Given the description of an element on the screen output the (x, y) to click on. 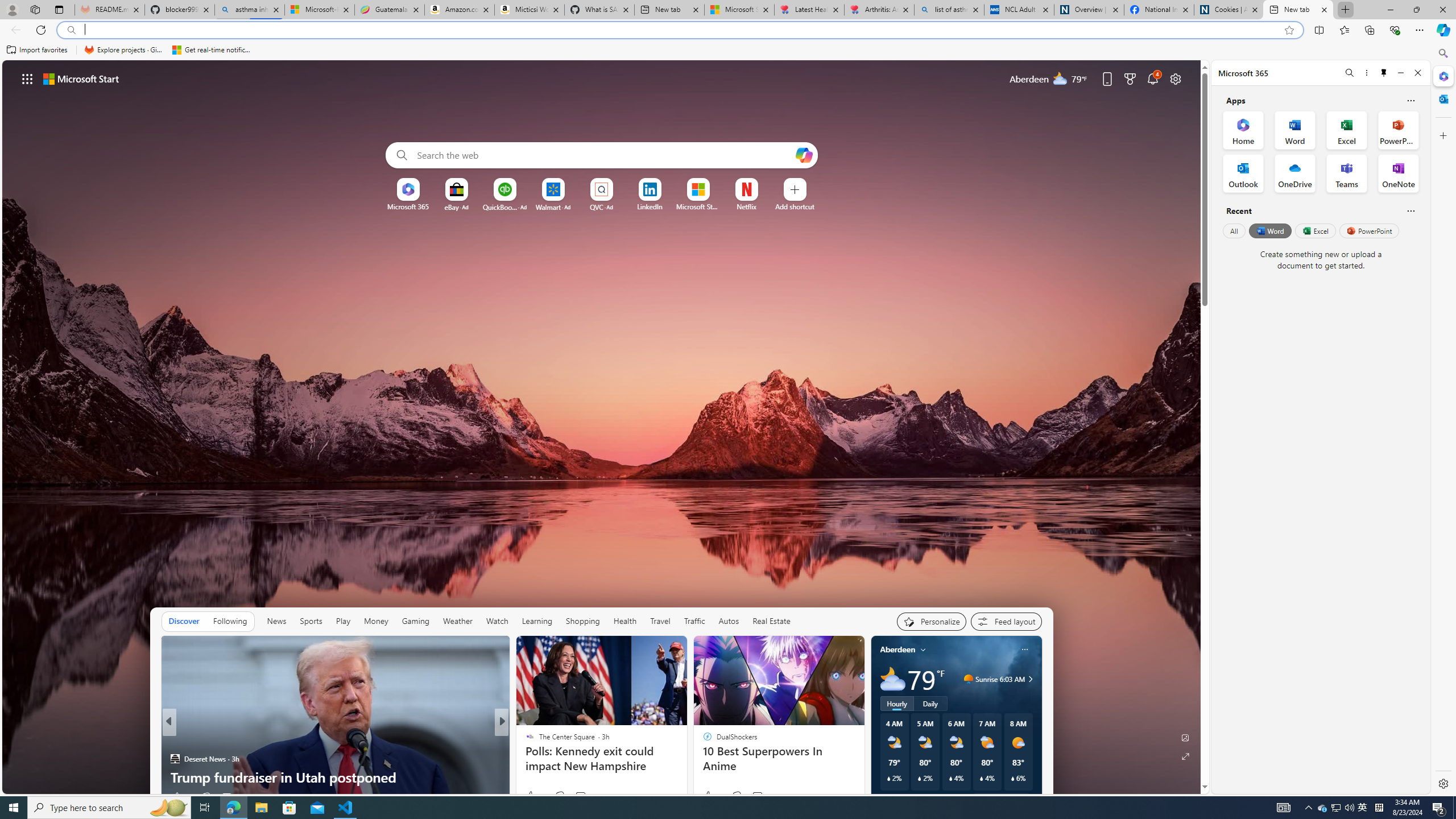
Aberdeen (897, 649)
Reader's Digest (524, 740)
Pedal Pros (684, 777)
Add a site (793, 206)
